Given the description of an element on the screen output the (x, y) to click on. 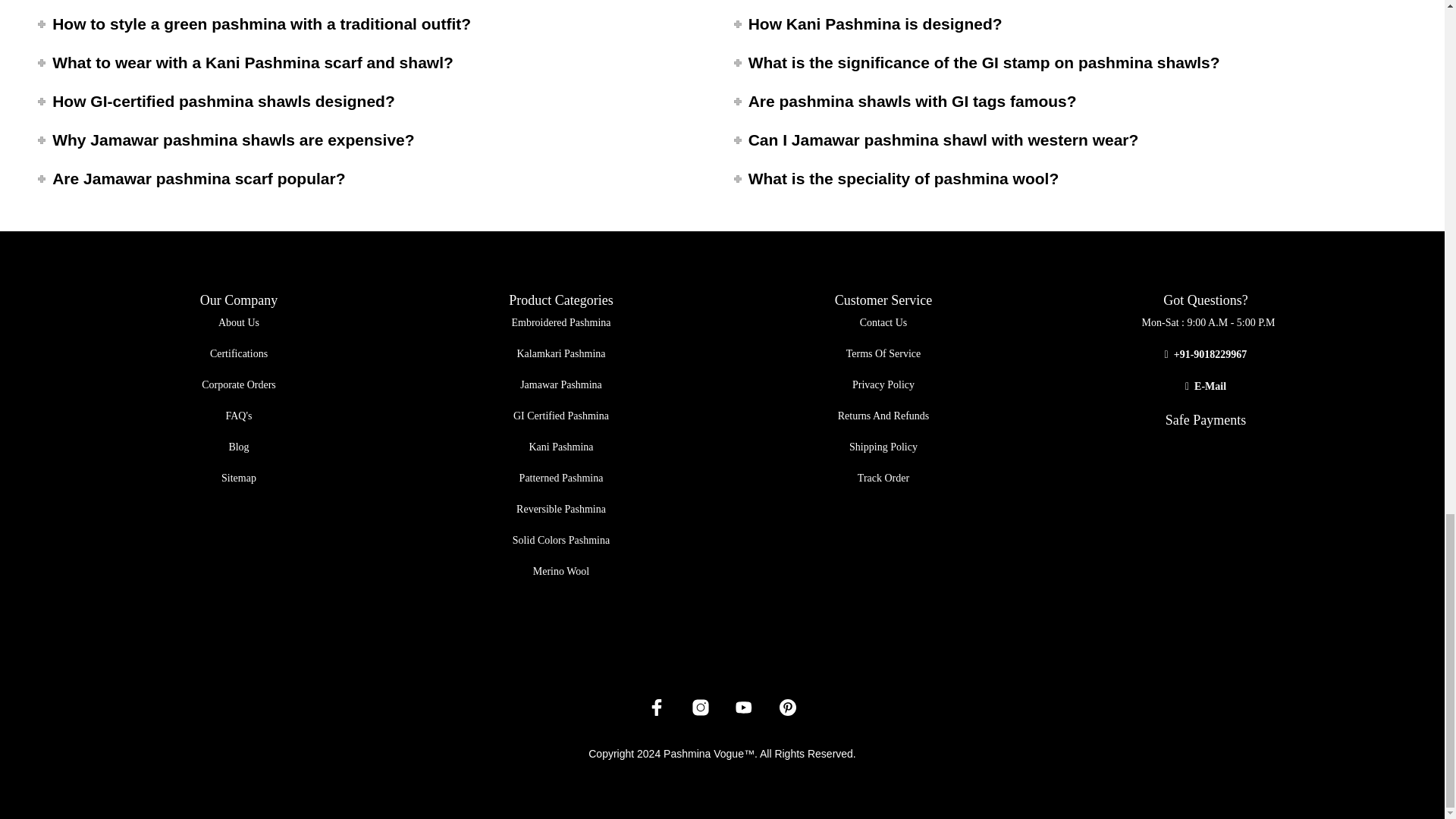
About Us (238, 322)
Corporate Orders (239, 384)
Blog (238, 446)
Sitemap (238, 478)
FAQ's (238, 415)
Certifications (238, 353)
